Given the description of an element on the screen output the (x, y) to click on. 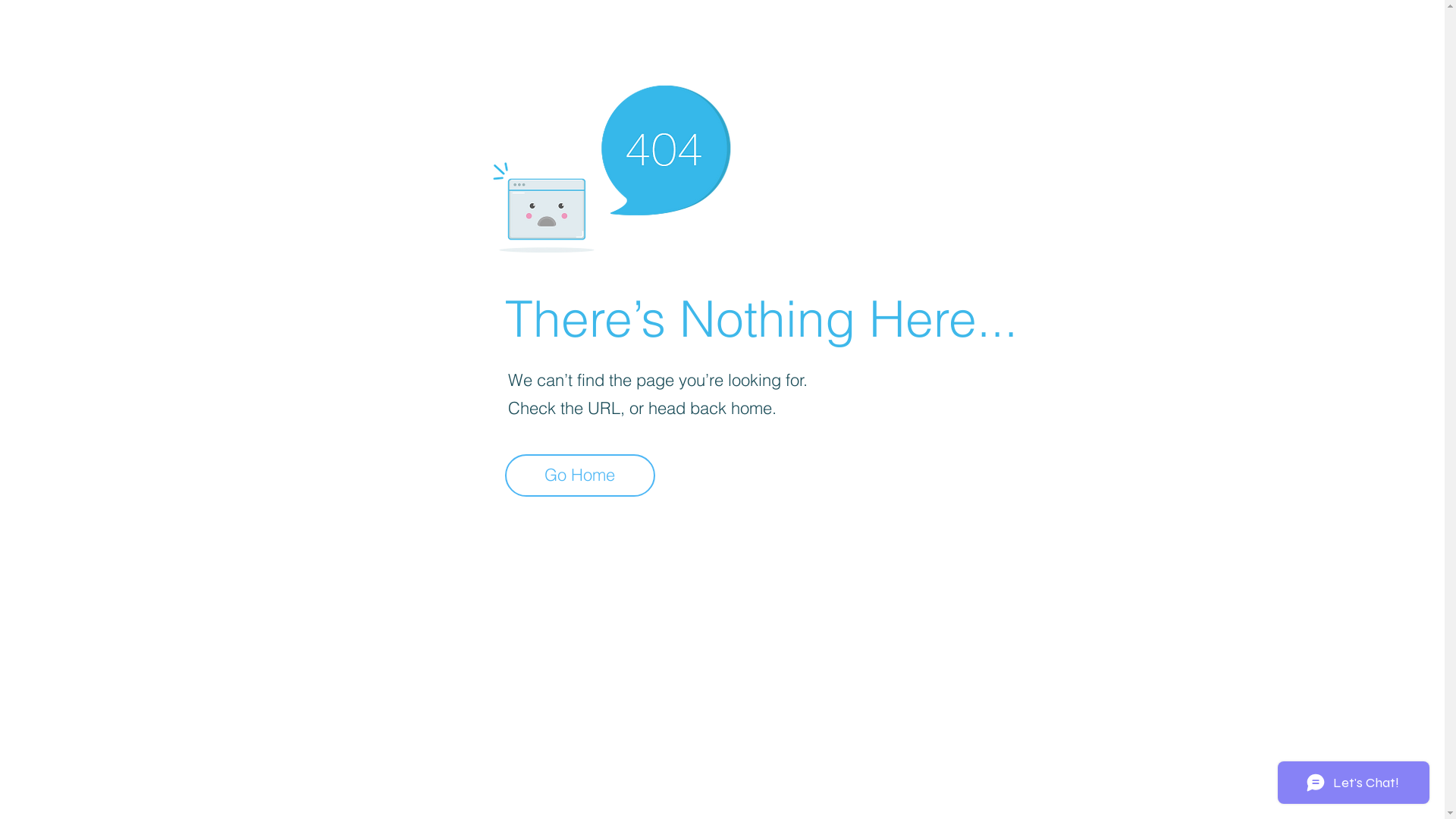
Go Home Element type: text (580, 475)
404-icon_2.png Element type: hover (610, 164)
